Given the description of an element on the screen output the (x, y) to click on. 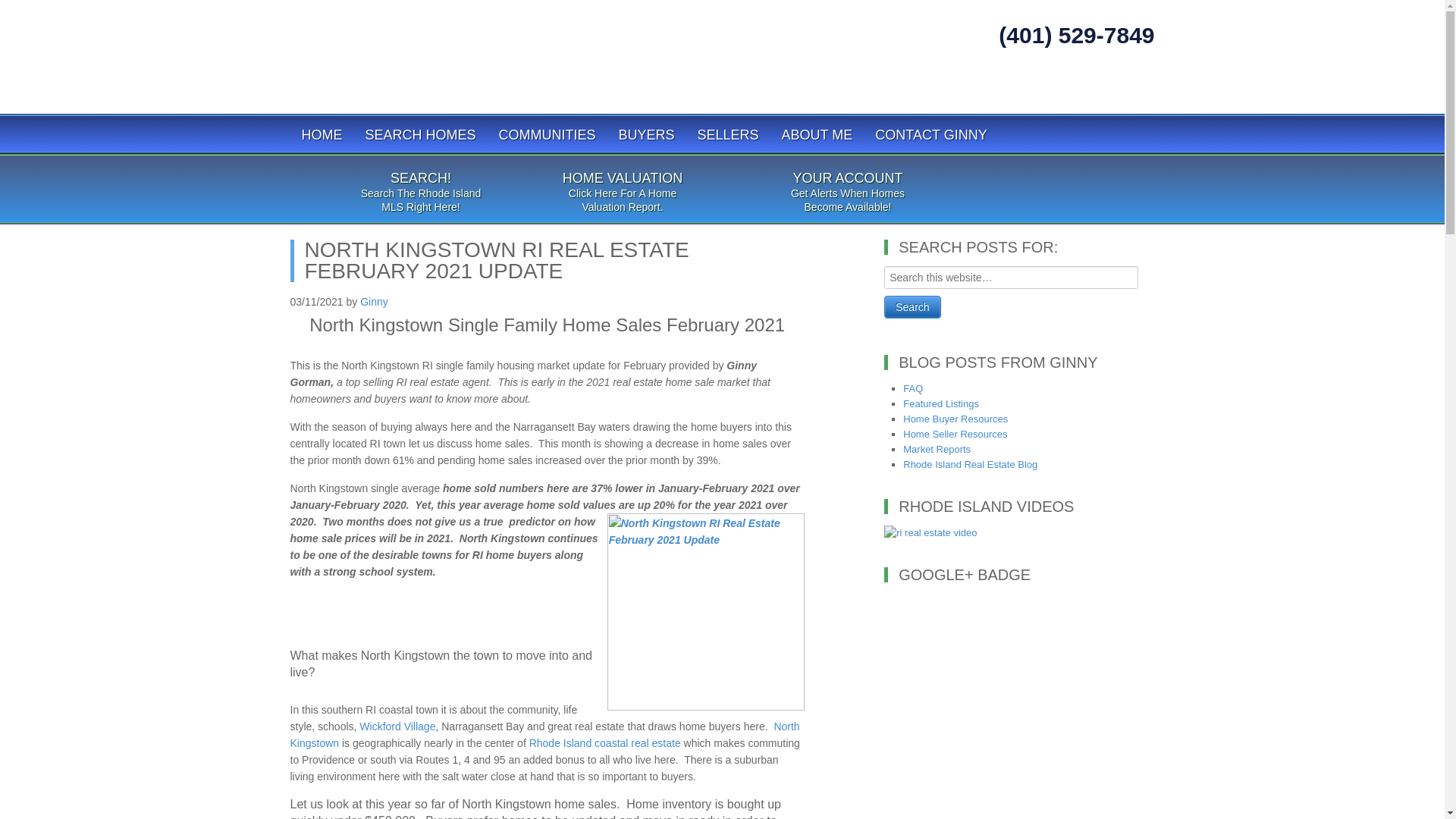
Rhode Island Real Estate (471, 52)
Pinterest (1092, 87)
HOME (321, 133)
Follow us on Google Plus (1051, 87)
Google Plus (1051, 87)
Follow us on Twitter (1010, 87)
RSS Feed (1133, 87)
RI Towns, communities (547, 133)
Rhode Island Real Estate (471, 52)
COMMUNITIES (547, 133)
Search (911, 306)
Subscribe to our RSS Feed (1133, 87)
BUYERS (646, 133)
Facebook (970, 87)
Search RI MLS (419, 133)
